Given the description of an element on the screen output the (x, y) to click on. 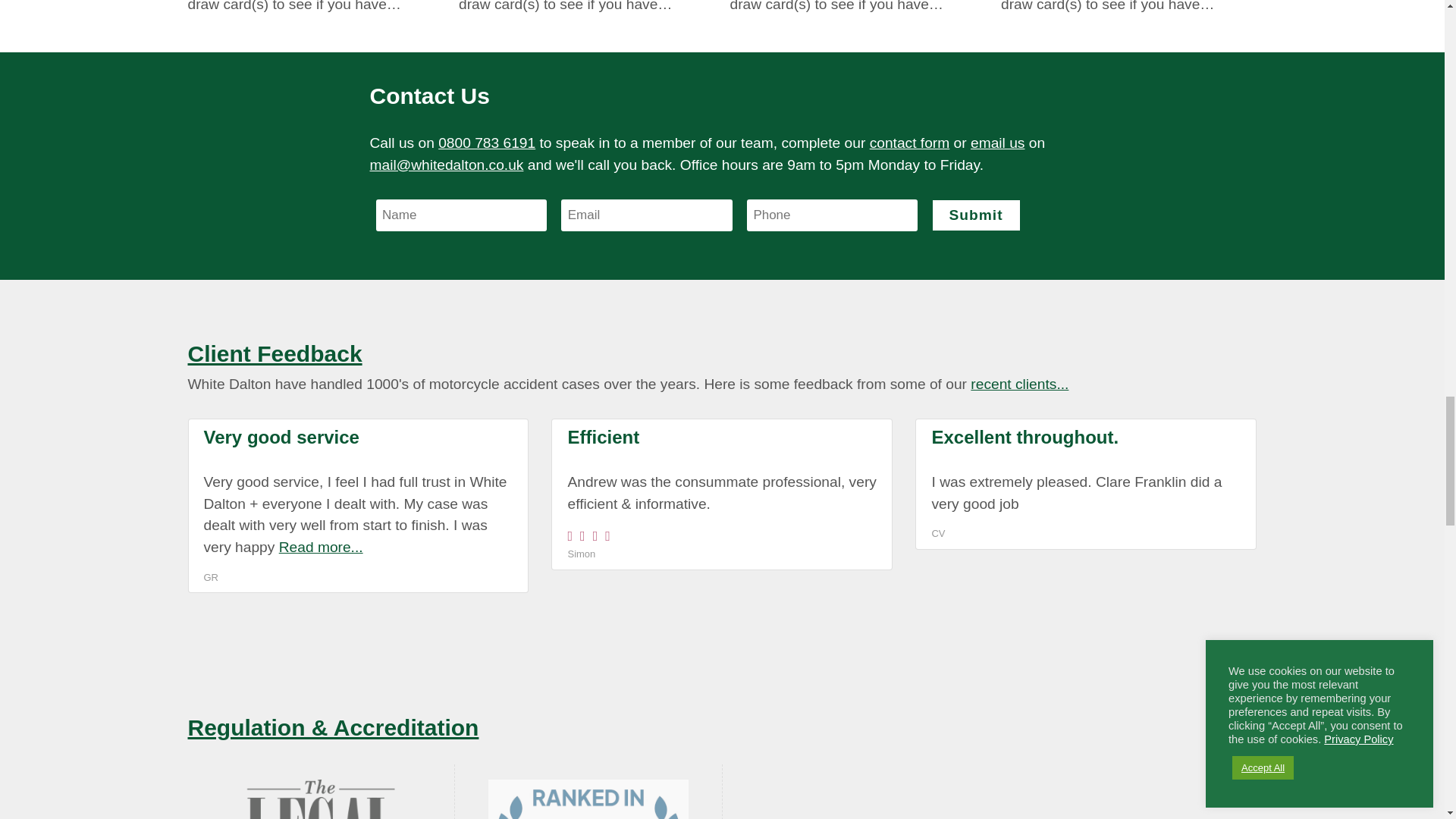
Submit (976, 214)
